Given the description of an element on the screen output the (x, y) to click on. 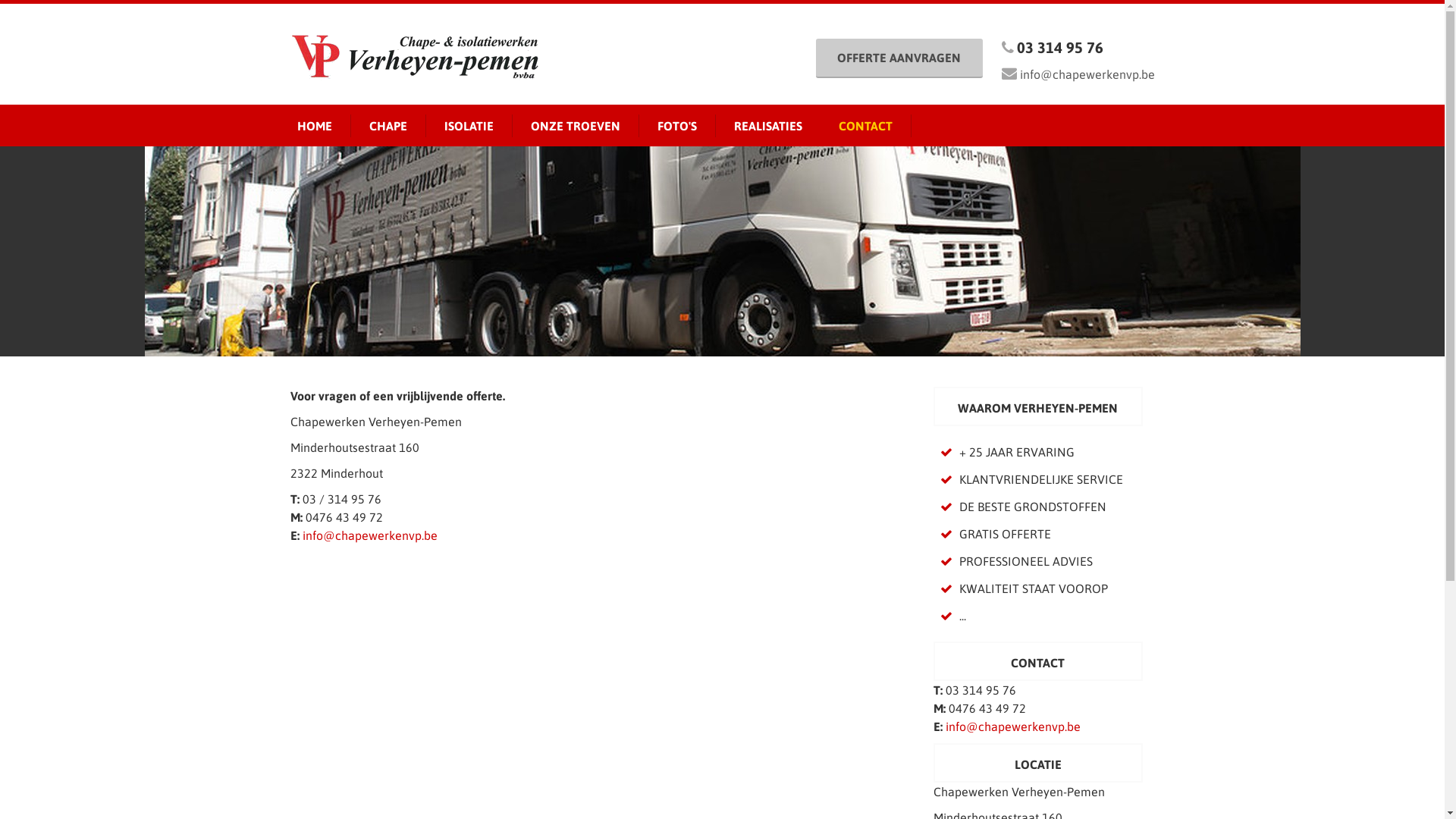
CHAPE Element type: text (387, 125)
info@chapewerkenvp.be Element type: text (1086, 74)
ISOLATIE Element type: text (468, 125)
REALISATIES Element type: text (767, 125)
ONZE TROEVEN Element type: text (575, 125)
OFFERTE AANVRAGEN Element type: text (898, 58)
CONTACT Element type: text (865, 125)
FOTO'S Element type: text (676, 125)
HOME Element type: text (314, 125)
info@chapewerkenvp.be Element type: text (1011, 726)
info@chapewerkenvp.be Element type: text (368, 535)
